Given the description of an element on the screen output the (x, y) to click on. 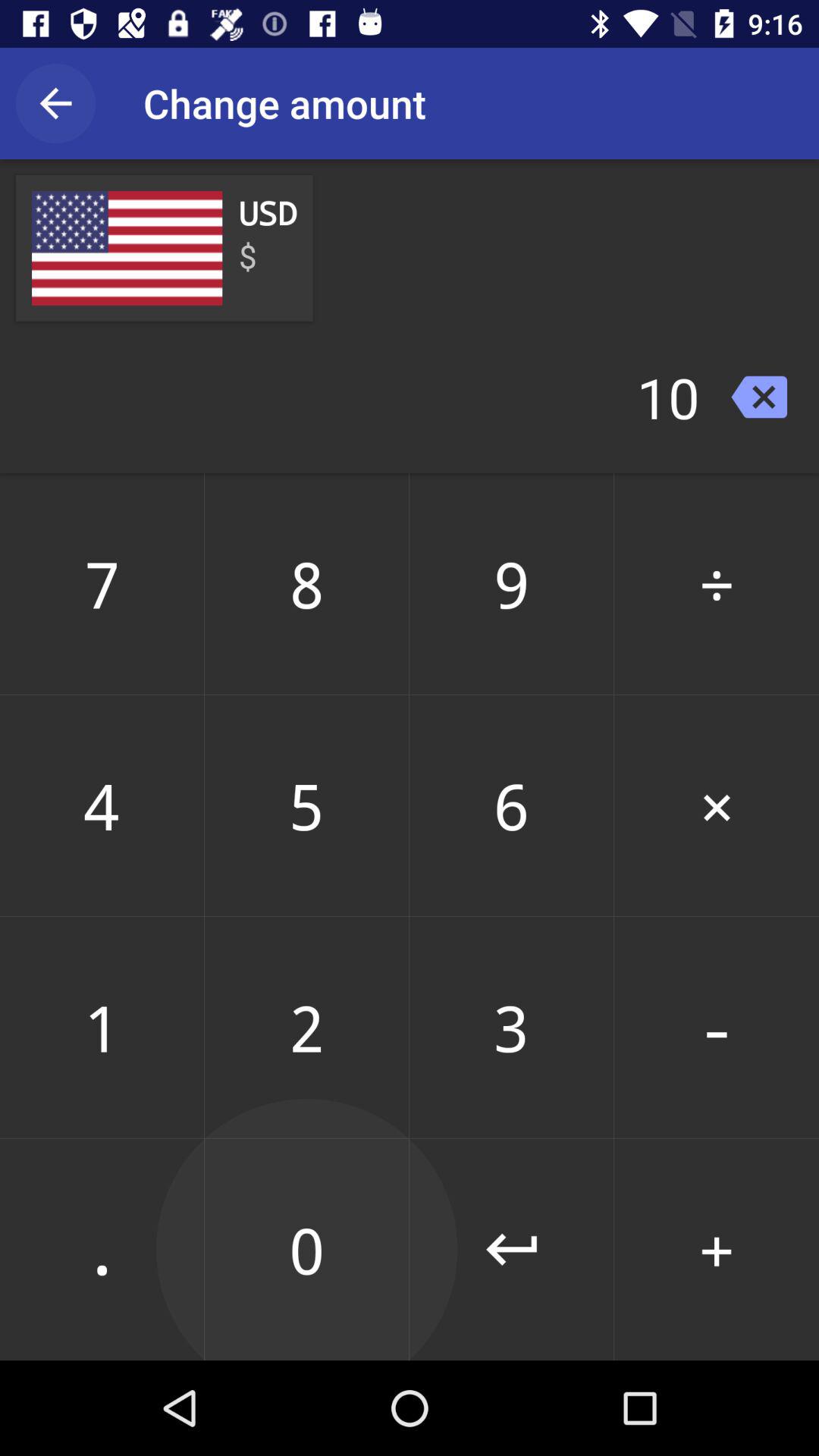
press the icon below 9 (716, 805)
